Given the description of an element on the screen output the (x, y) to click on. 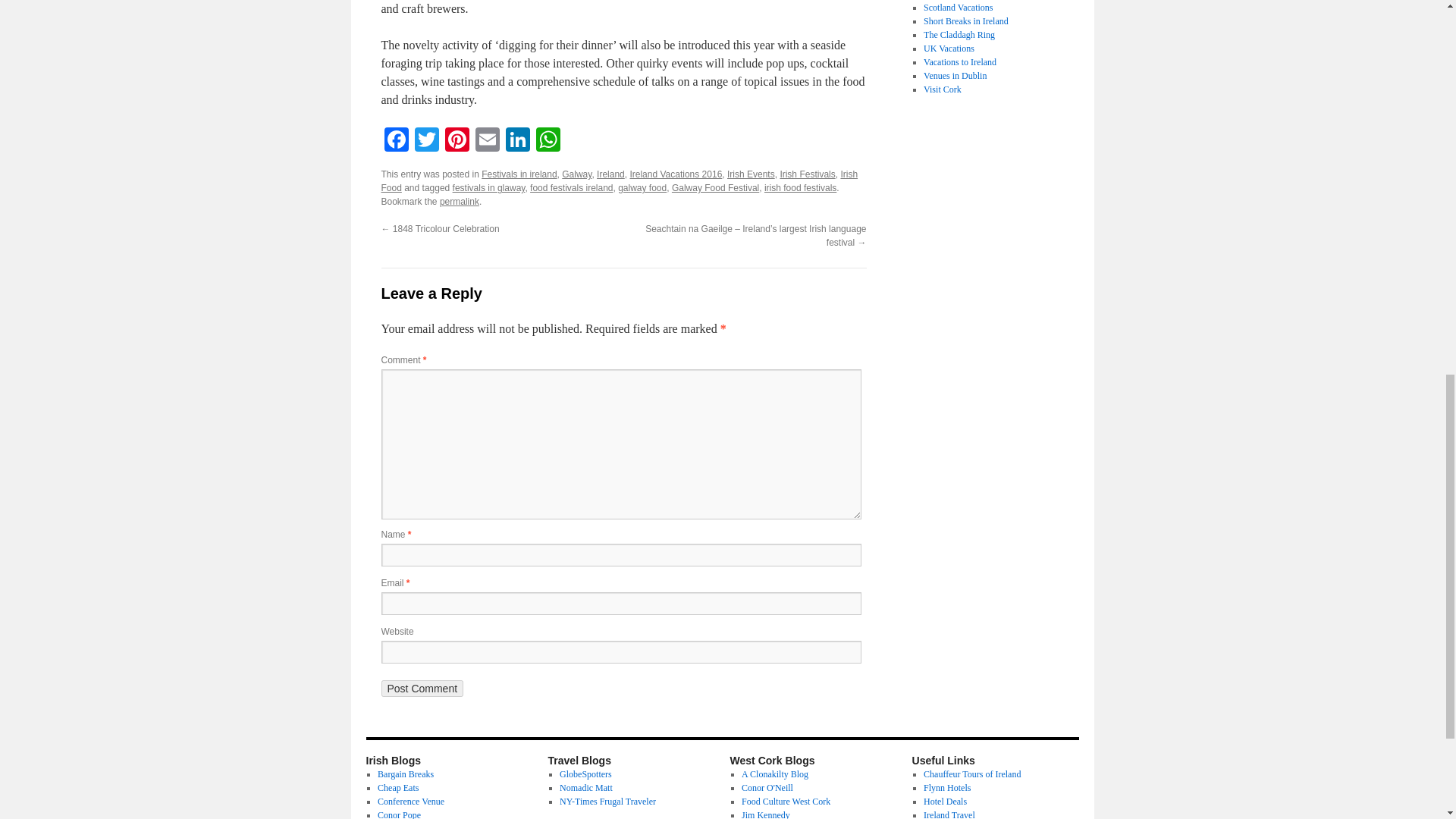
LinkedIn (517, 141)
Irish Festivals (806, 173)
Twitter (425, 141)
Twitter (425, 141)
LinkedIn (517, 141)
Irish Food (618, 180)
WhatsApp (547, 141)
Permalink to The Galway Food Festival (459, 201)
Pinterest (456, 141)
Galway (576, 173)
